Given the description of an element on the screen output the (x, y) to click on. 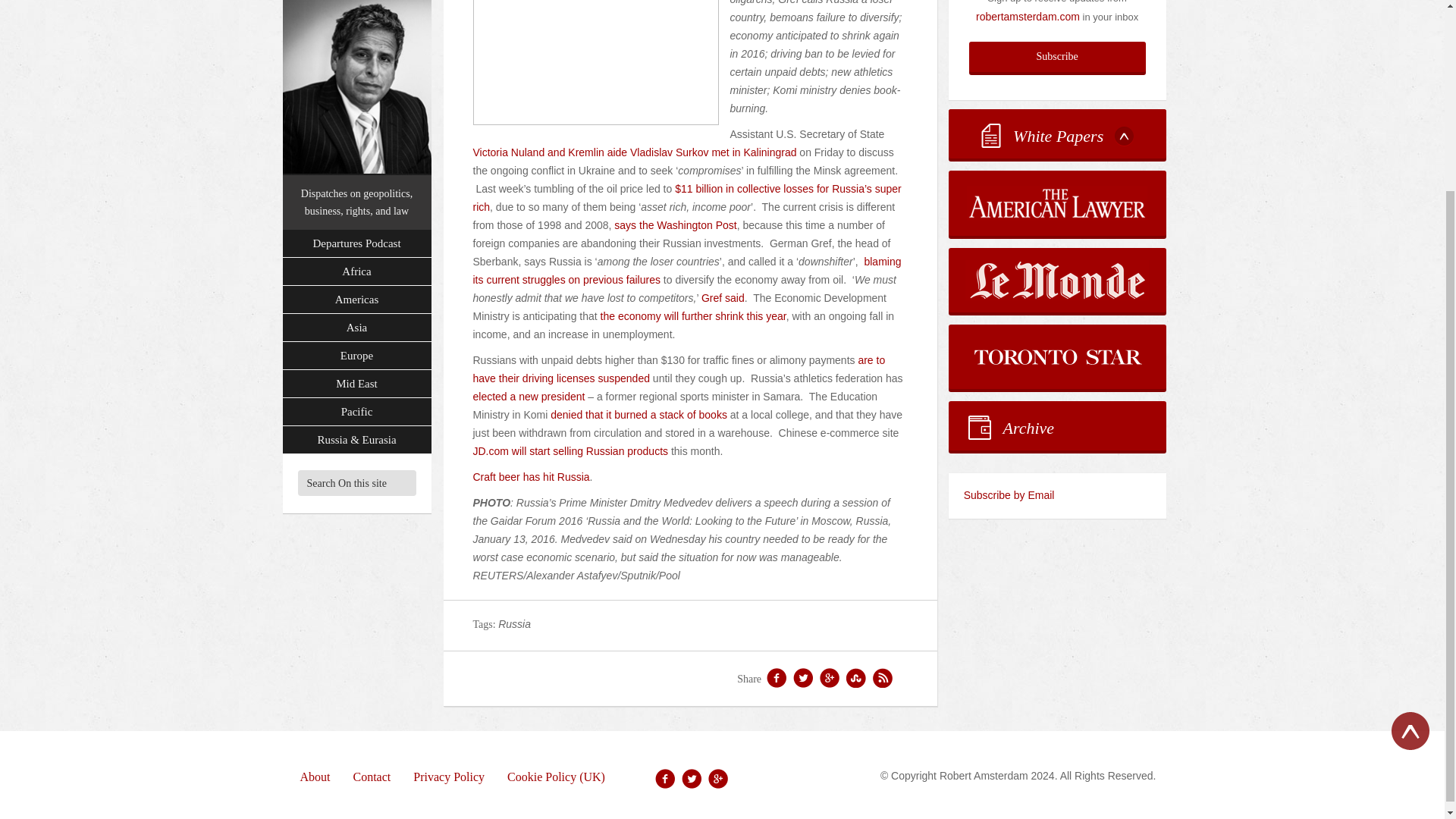
denied that it burned a stack of books (638, 414)
JD.com will start selling Russian products (570, 451)
Europe (356, 215)
elected a new president (529, 396)
Russia (514, 623)
are to have their driving licenses suspended (679, 368)
Asia (356, 187)
robertamsterdam.com (1027, 16)
blaming its current struggles on previous failures (687, 270)
Americas (356, 159)
